Given the description of an element on the screen output the (x, y) to click on. 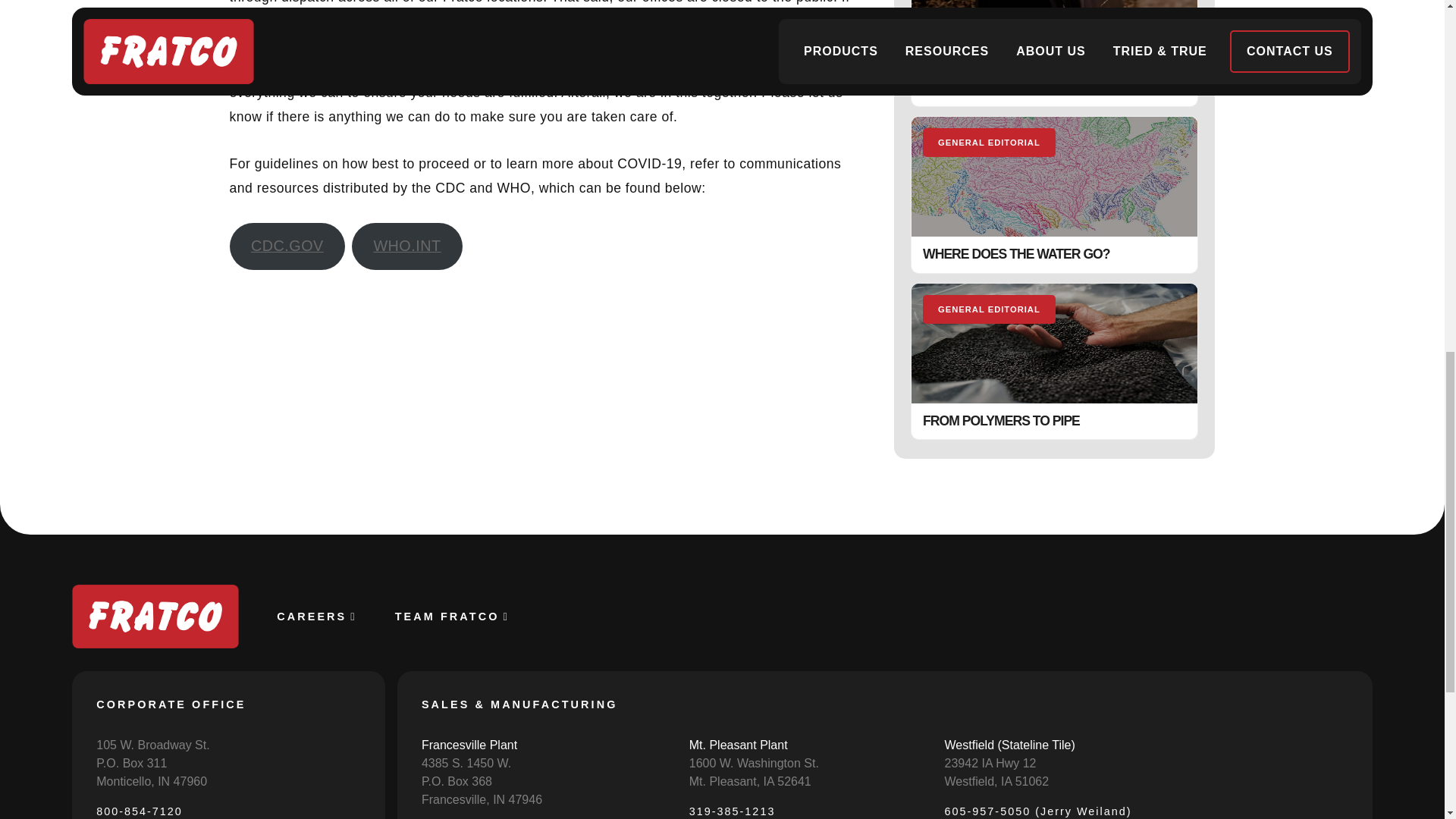
Fratco Logo (154, 616)
